Given the description of an element on the screen output the (x, y) to click on. 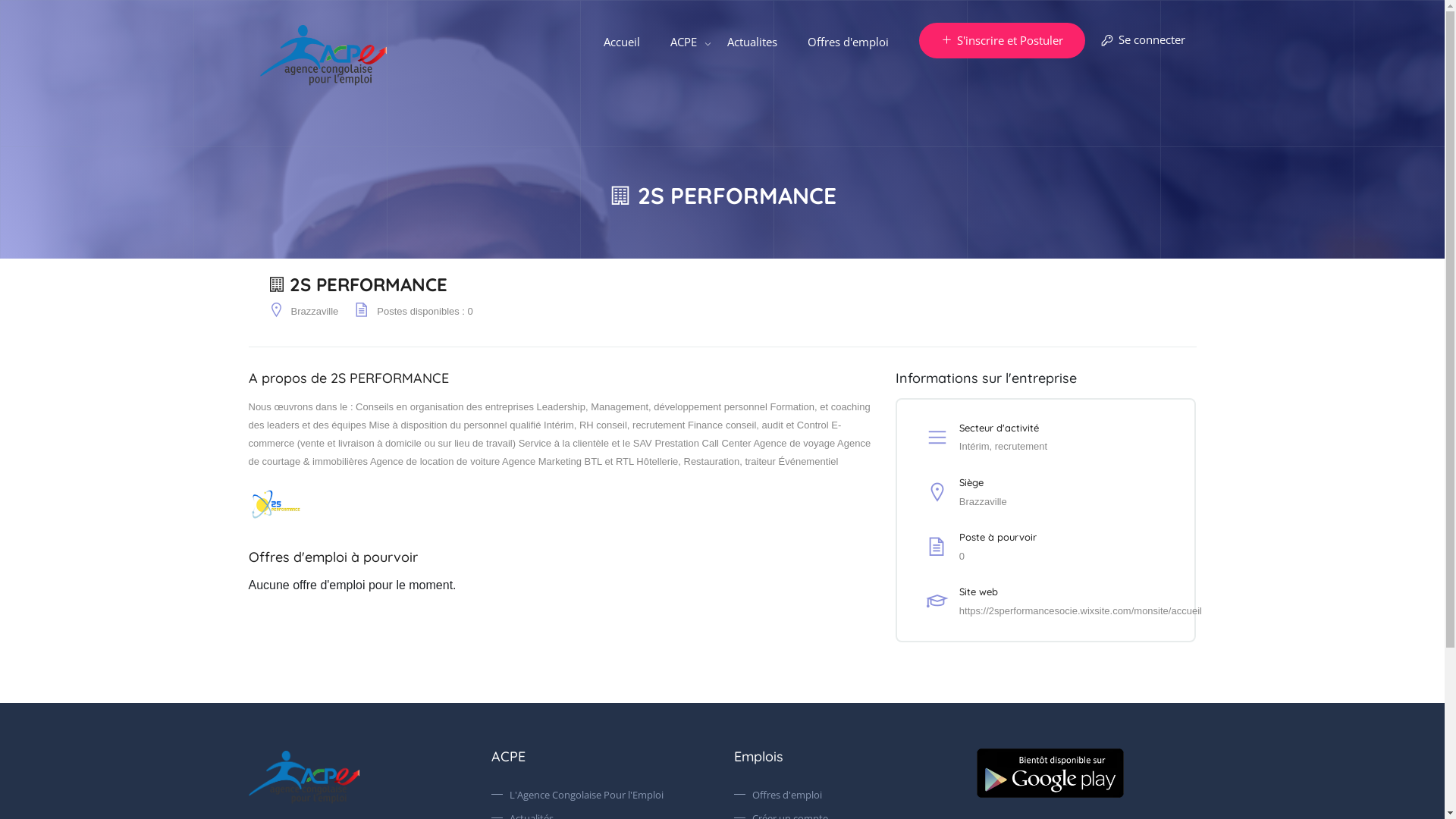
Offres d'emploi Element type: text (847, 41)
Accueil Element type: text (621, 41)
Offres d'emploi Element type: text (843, 795)
https://2sperformancesocie.wixsite.com/monsite/accueil Element type: text (1080, 610)
S'inscrire et Postuler Element type: text (1002, 40)
L'Agence Congolaise Pour l'Emploi Element type: text (601, 795)
Se connecter Element type: text (1141, 40)
Actualites Element type: text (751, 41)
ACPE Element type: text (683, 41)
